Given the description of an element on the screen output the (x, y) to click on. 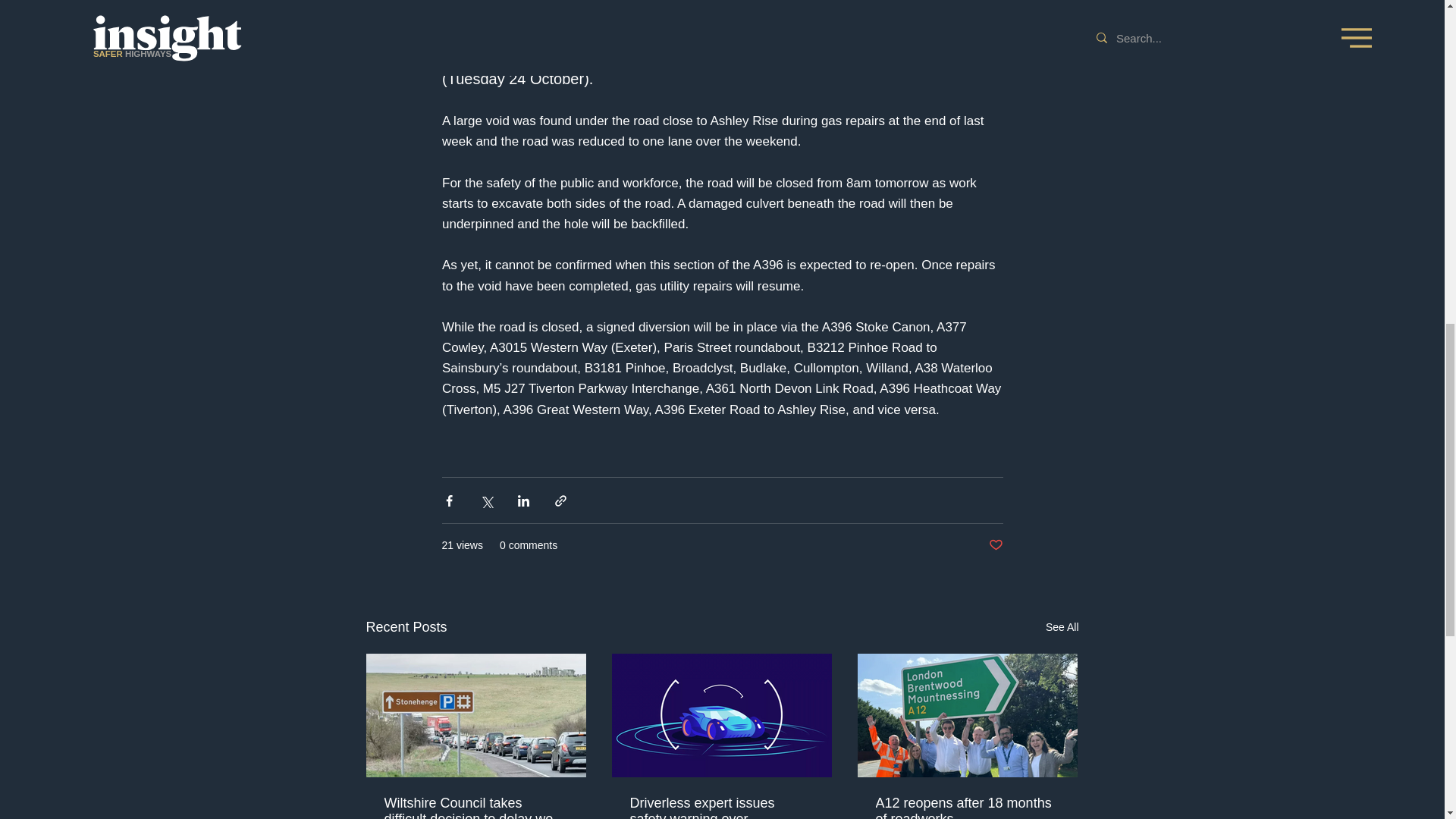
Post not marked as liked (995, 545)
See All (1061, 627)
A12 reopens after 18 months of roadworks (966, 807)
